Given the description of an element on the screen output the (x, y) to click on. 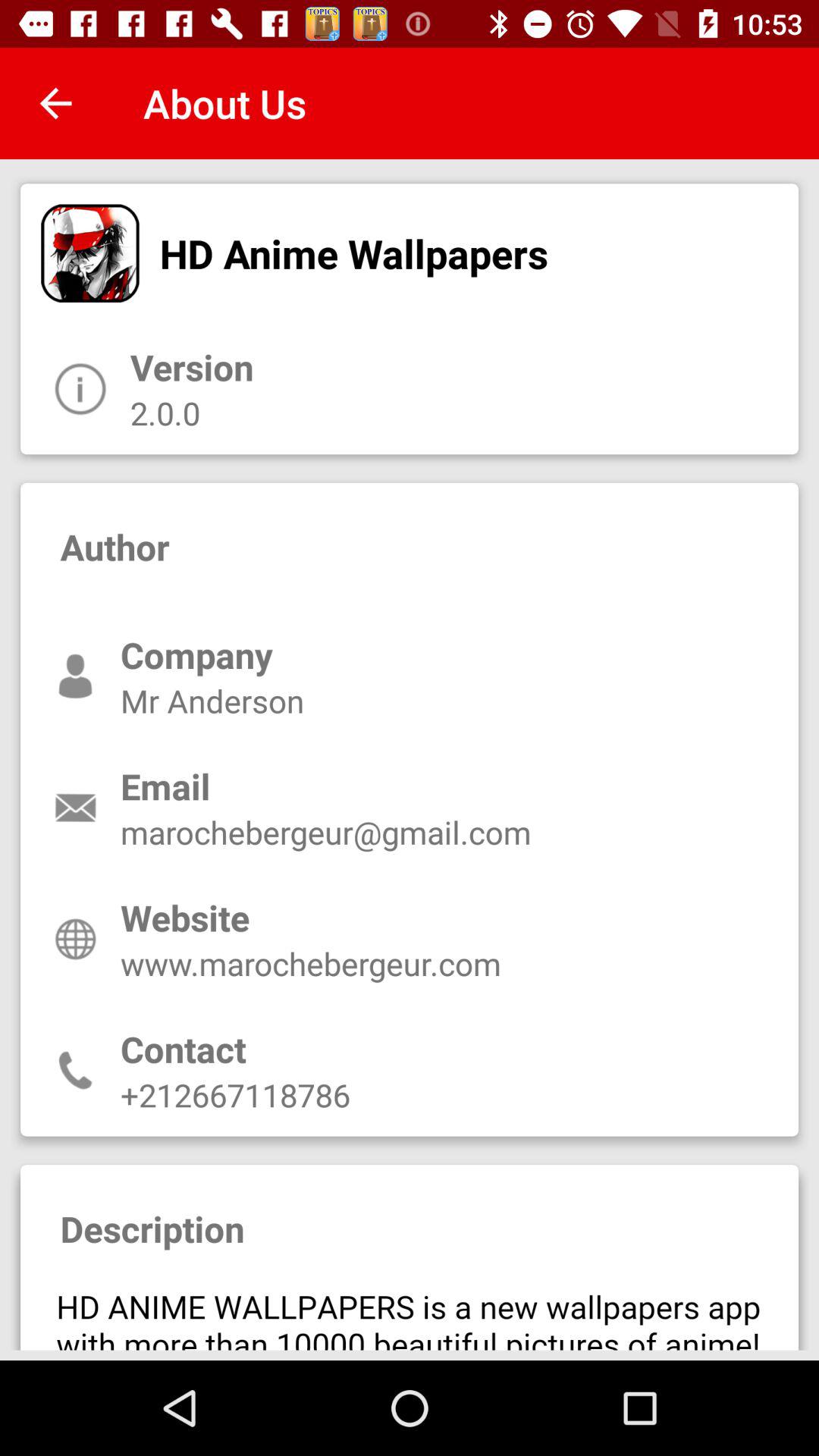
wallpaper app (409, 1311)
